Given the description of an element on the screen output the (x, y) to click on. 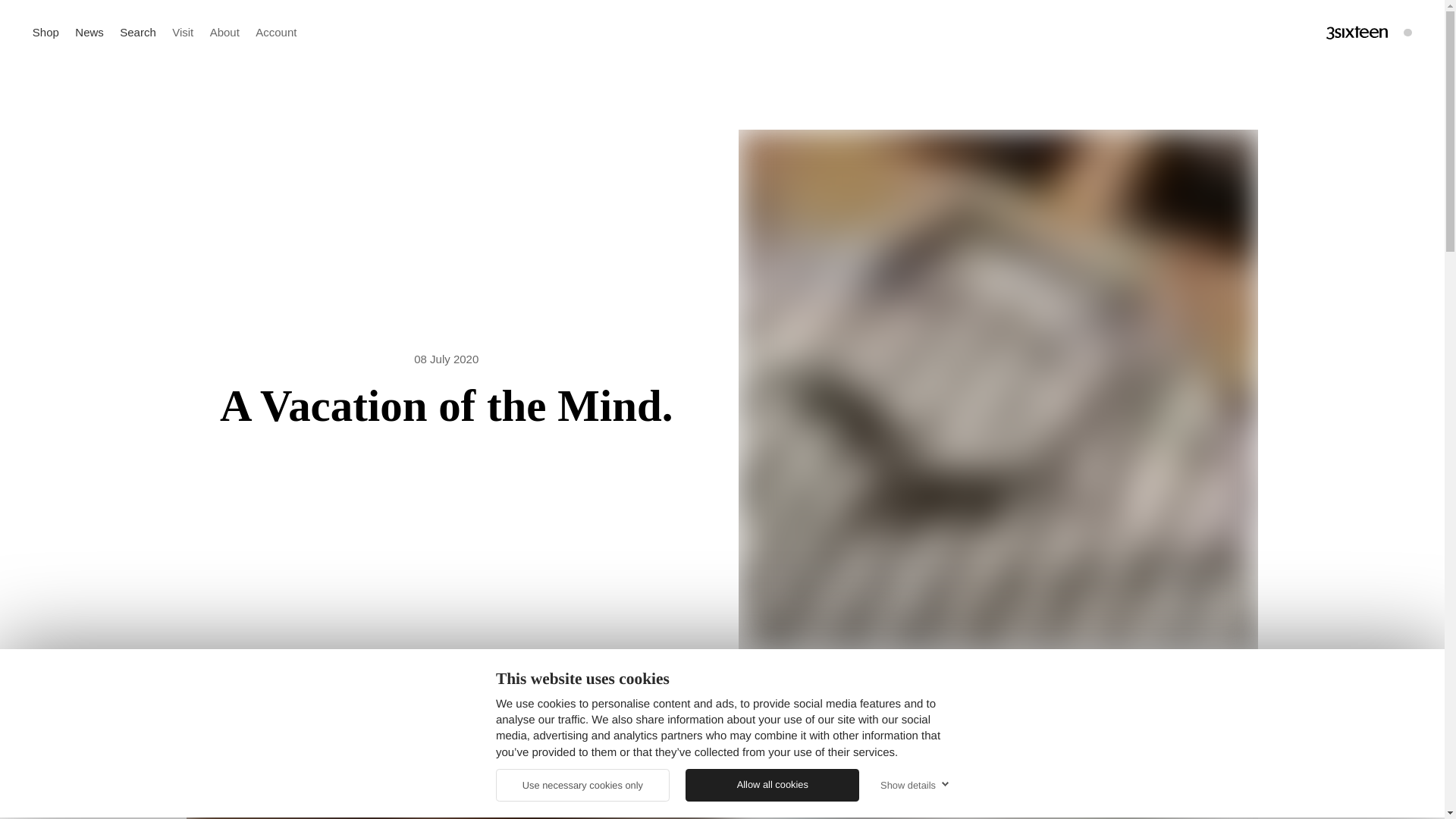
Use necessary cookies only (582, 785)
Allow all cookies (772, 785)
Show details (912, 784)
